Given the description of an element on the screen output the (x, y) to click on. 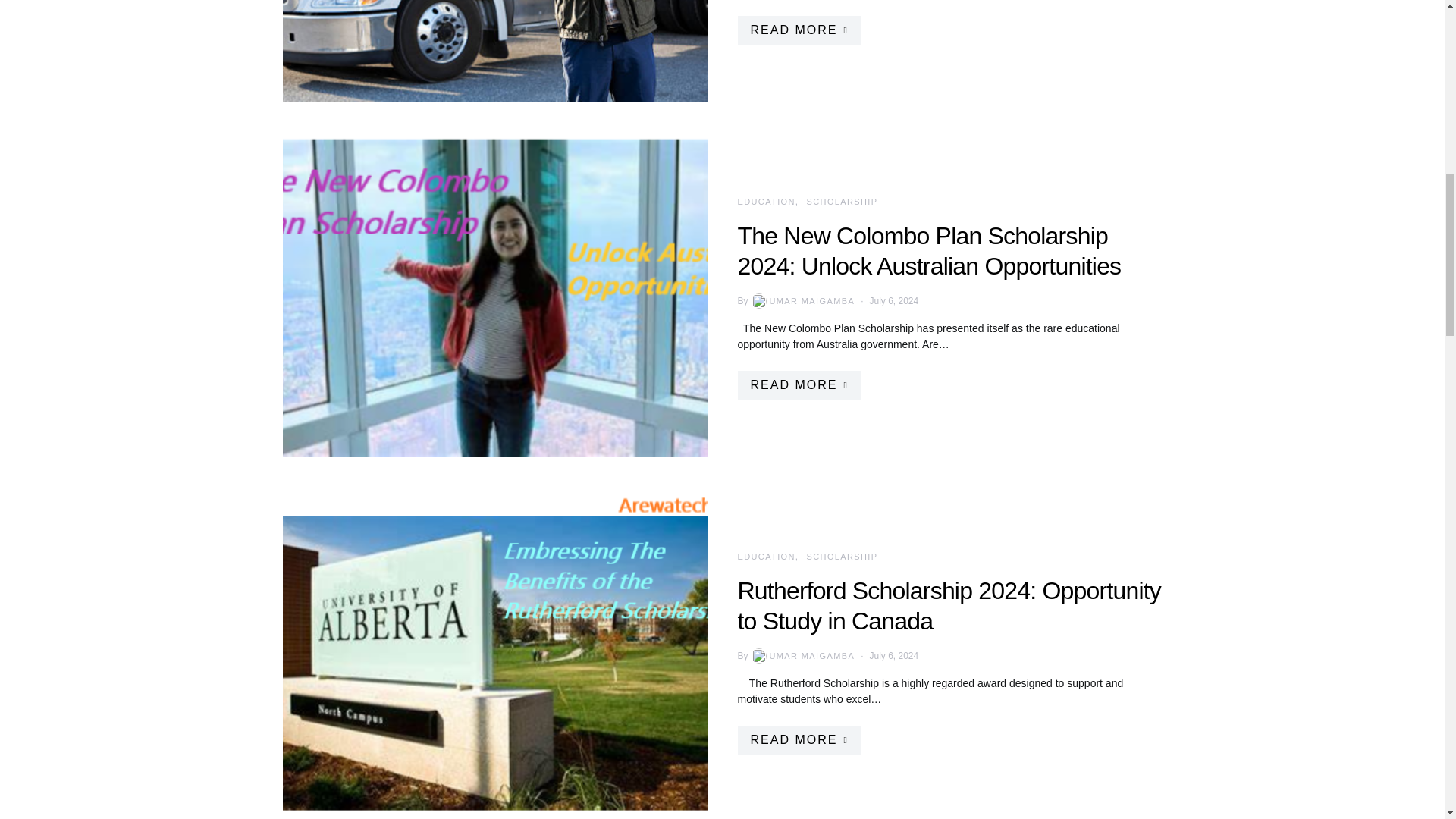
SCHOLARSHIP (841, 556)
SCHOLARSHIP (841, 201)
READ MORE (798, 385)
READ MORE (798, 739)
Rutherford Scholarship 2024: Opportunity to Study in Canada (948, 605)
UMAR MAIGAMBA (802, 300)
UMAR MAIGAMBA (802, 655)
EDUCATION (765, 556)
READ MORE (798, 30)
